Given the description of an element on the screen output the (x, y) to click on. 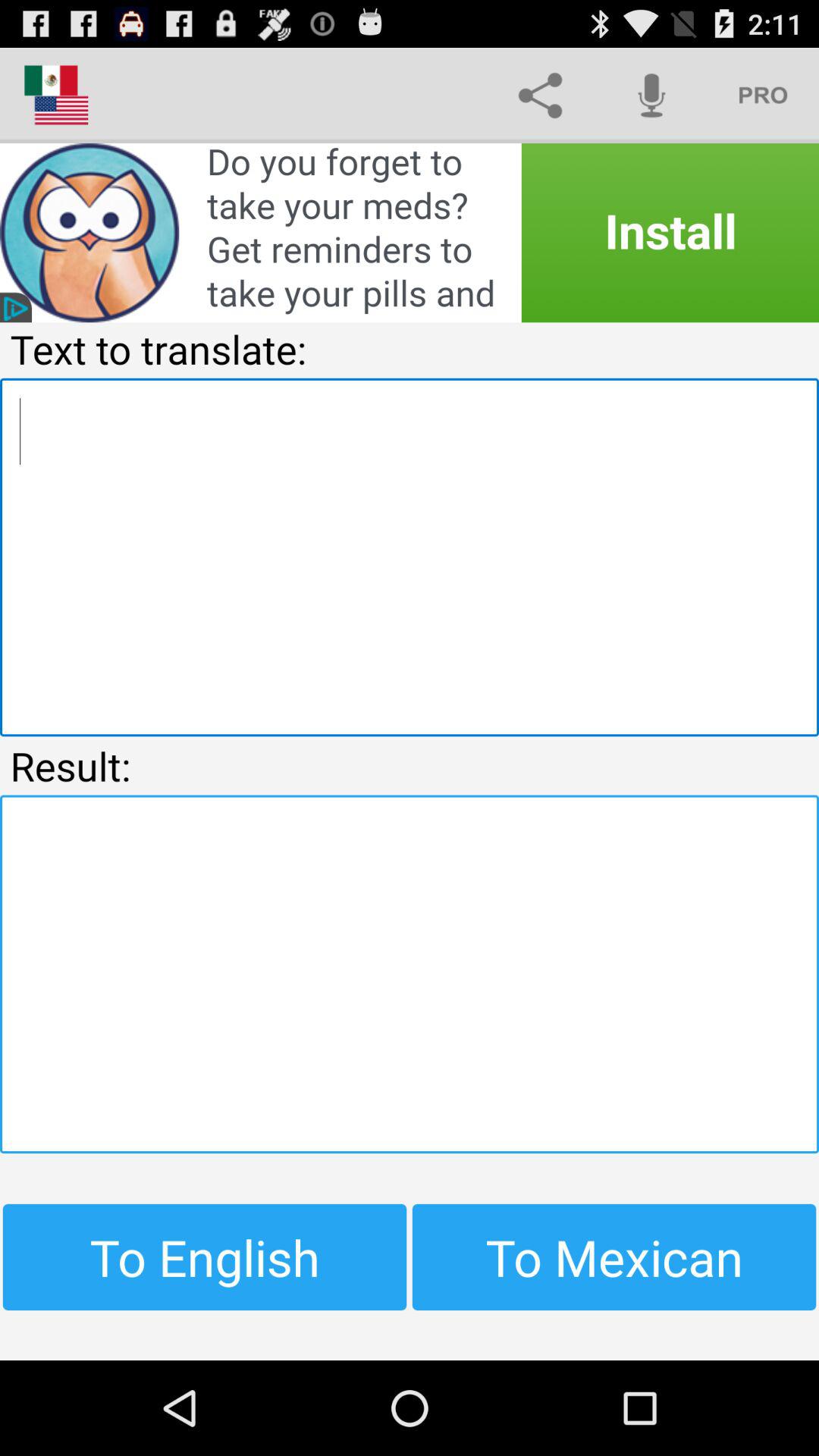
launch the button to the left of to mexican (204, 1257)
